Given the description of an element on the screen output the (x, y) to click on. 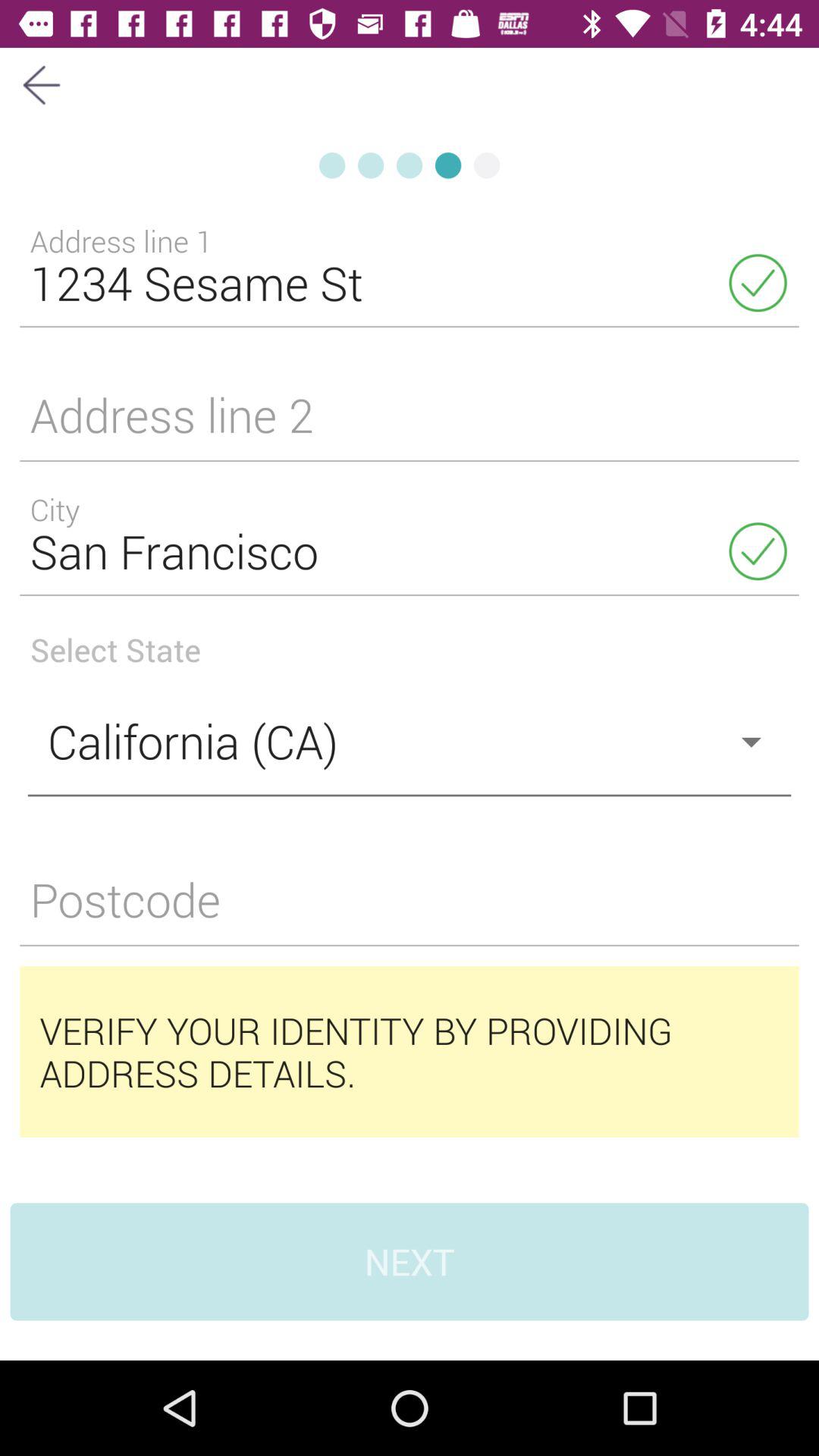
enter postcode (409, 908)
